Given the description of an element on the screen output the (x, y) to click on. 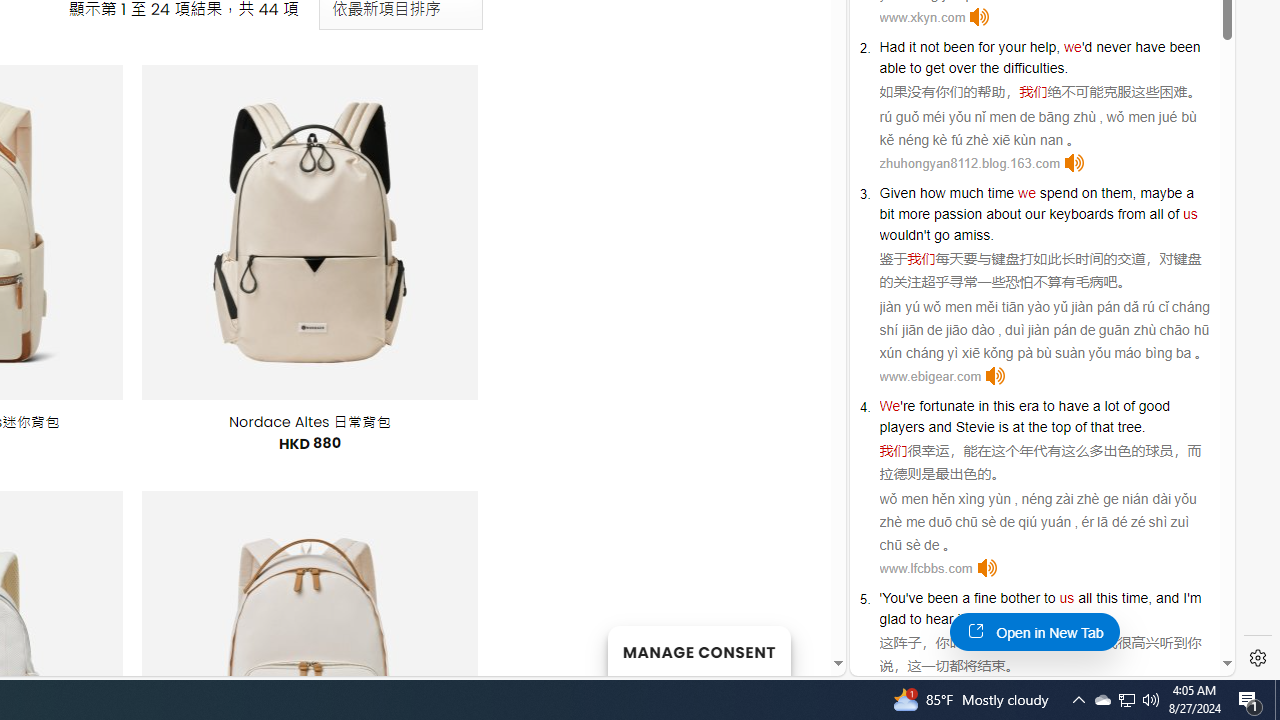
your (1012, 46)
never (1113, 46)
help (1043, 46)
top (1060, 426)
amiss (971, 234)
all (1085, 597)
